Given the description of an element on the screen output the (x, y) to click on. 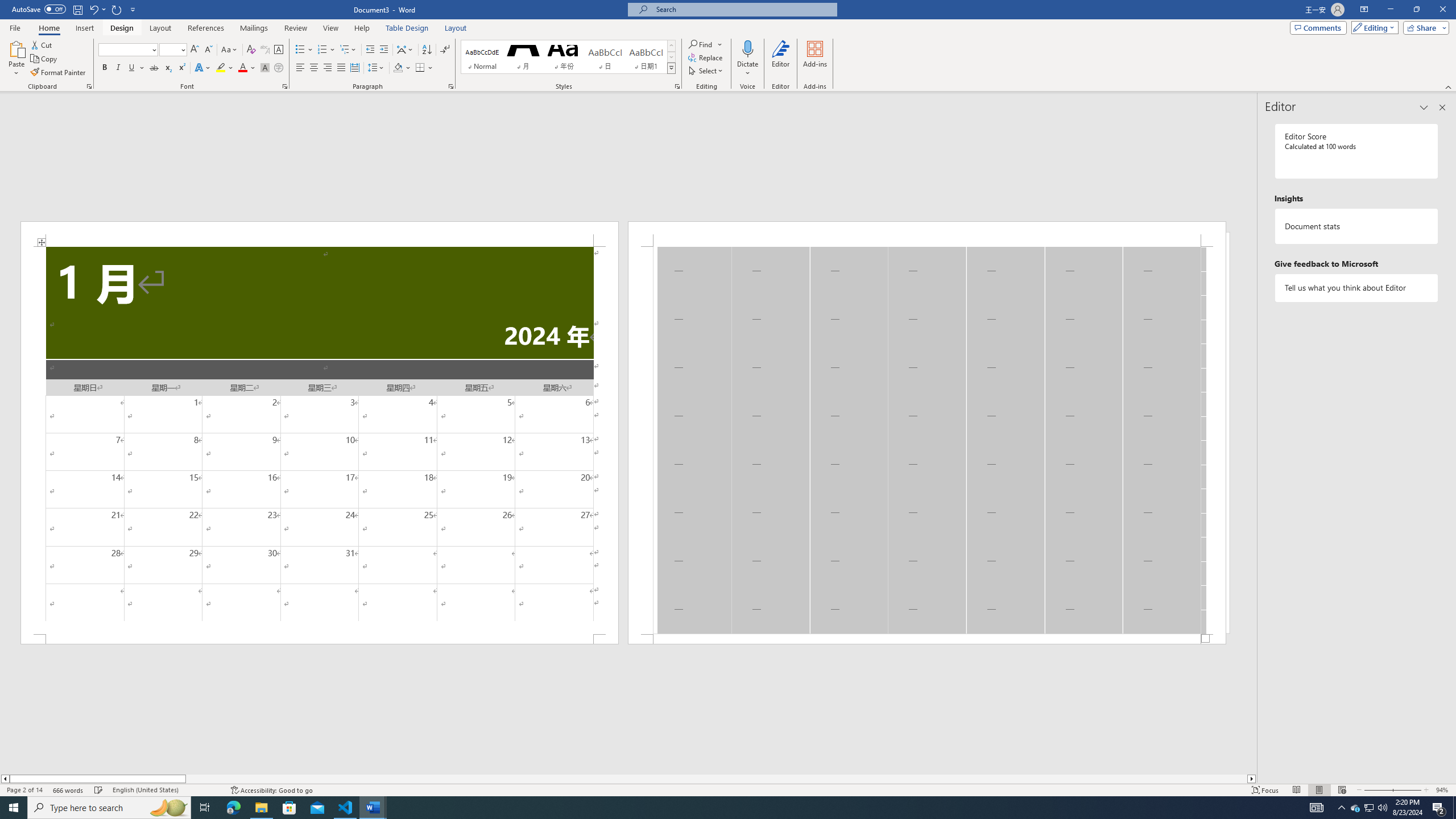
Document statistics (1356, 226)
